Given the description of an element on the screen output the (x, y) to click on. 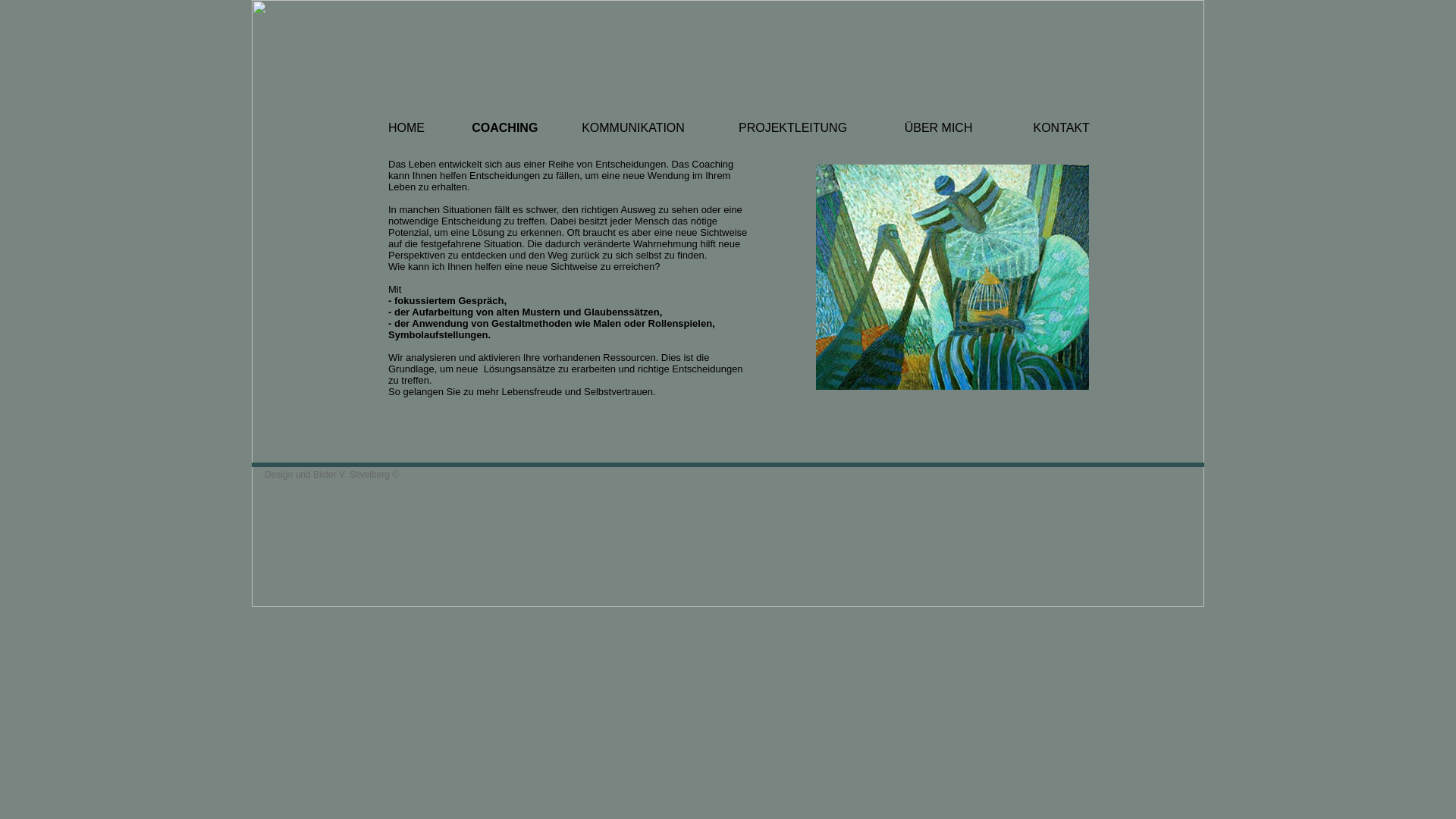
KOMMUNIKATION Element type: text (632, 127)
HOME Element type: text (407, 127)
KONTAKT Element type: text (1060, 127)
PROJEKTLEITUNG Element type: text (792, 127)
